Given the description of an element on the screen output the (x, y) to click on. 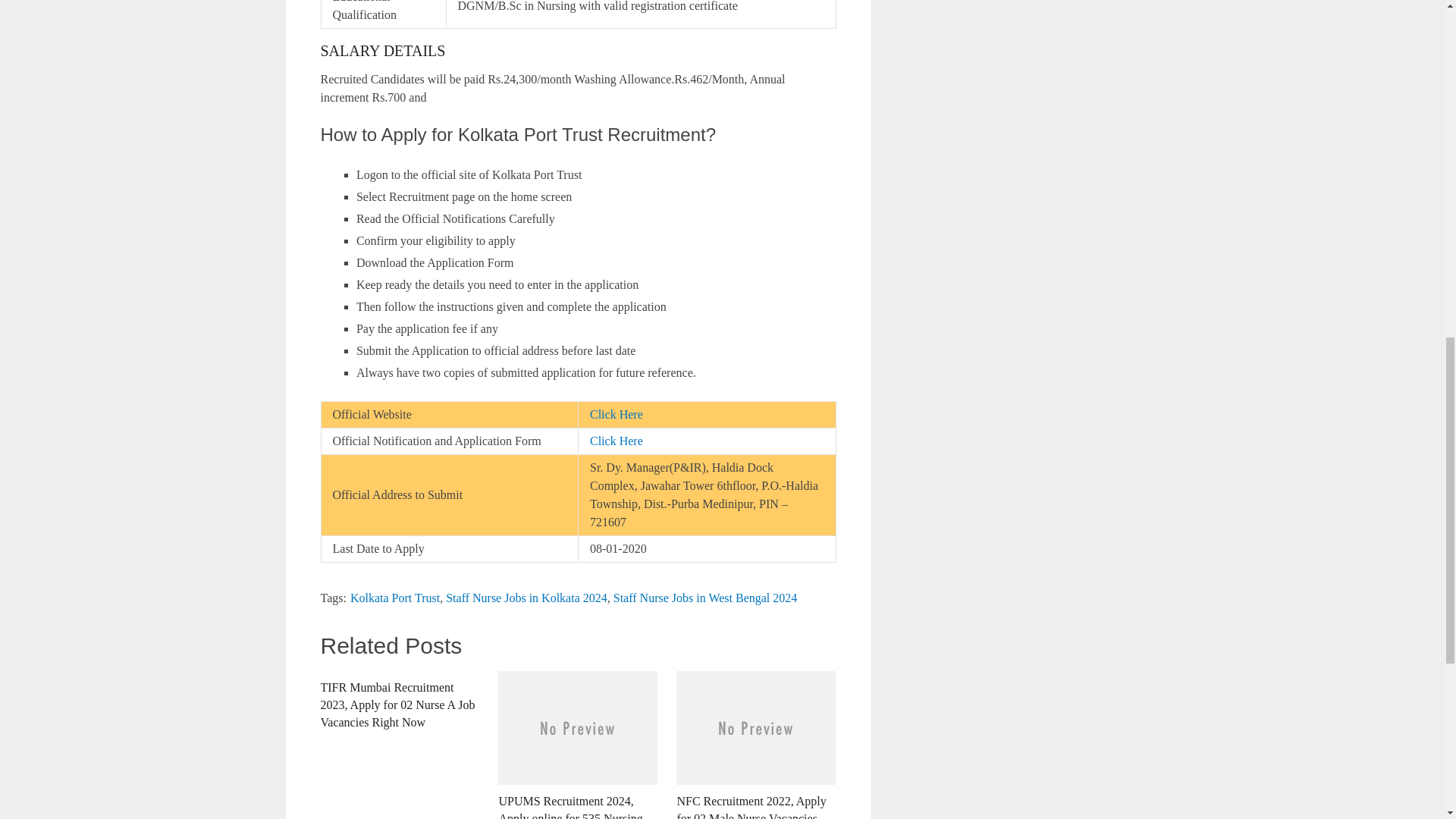
Click Here (616, 413)
Kolkata Port Trust (394, 597)
Click Here (616, 440)
Staff Nurse Jobs in West Bengal 2024 (704, 597)
Staff Nurse Jobs in Kolkata 2024 (526, 597)
